Given the description of an element on the screen output the (x, y) to click on. 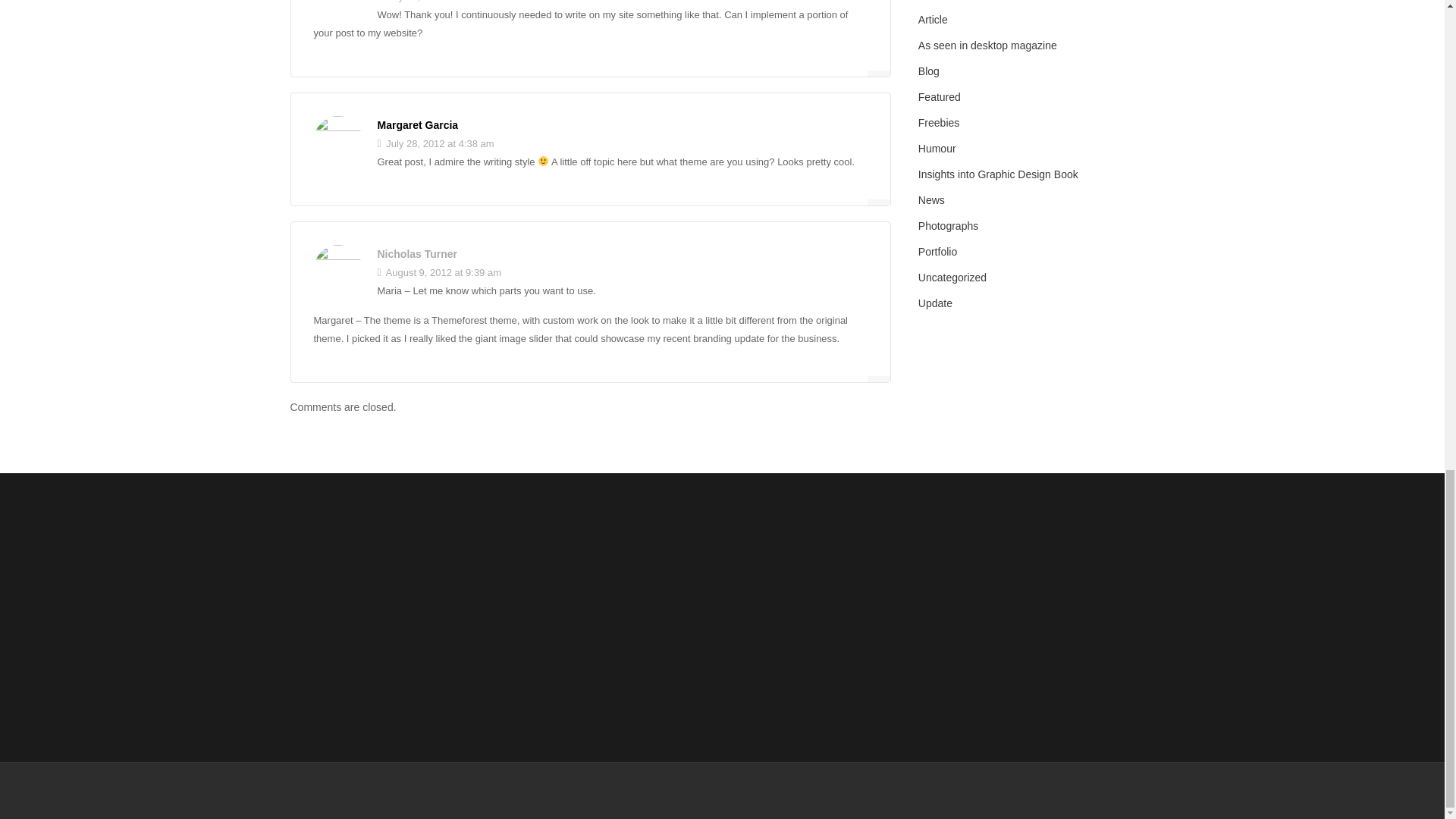
Article (932, 19)
July 28, 2012 at 4:38 am (436, 143)
Nicholas Turner (417, 254)
July 26, 2012 at 2:07 am (436, 1)
August 9, 2012 at 9:39 am (439, 272)
